Given the description of an element on the screen output the (x, y) to click on. 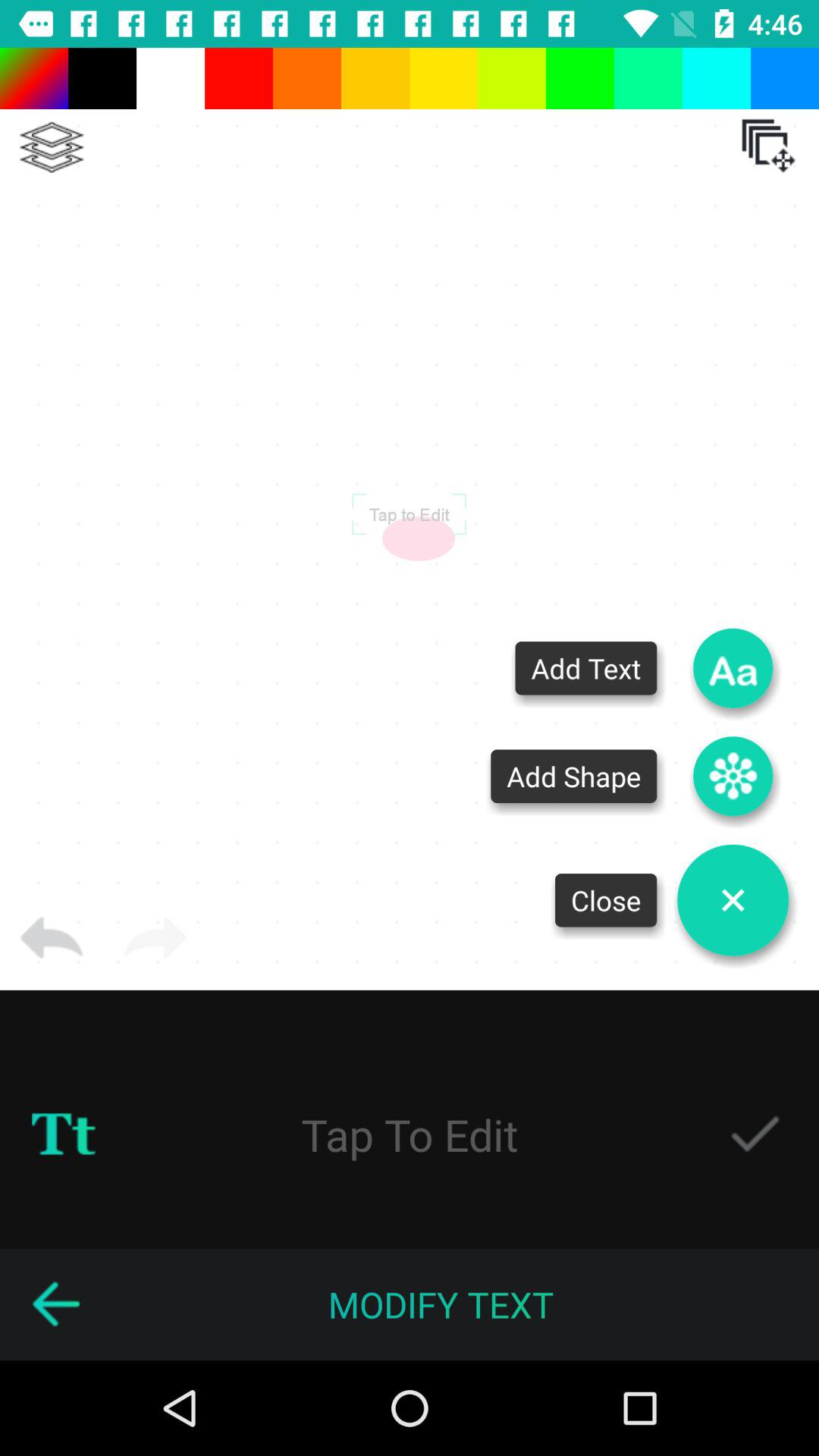
select the close icon (733, 900)
click tap to edit (409, 513)
click on the next button (155, 939)
click on the add text icon (732, 668)
click on the text beside the add text icon (586, 668)
click on the arrow  which is above tt (51, 939)
click on the icon preceding the modify text (55, 1304)
select the text tap to edit which is above  modify text (409, 1134)
